Given the description of an element on the screen output the (x, y) to click on. 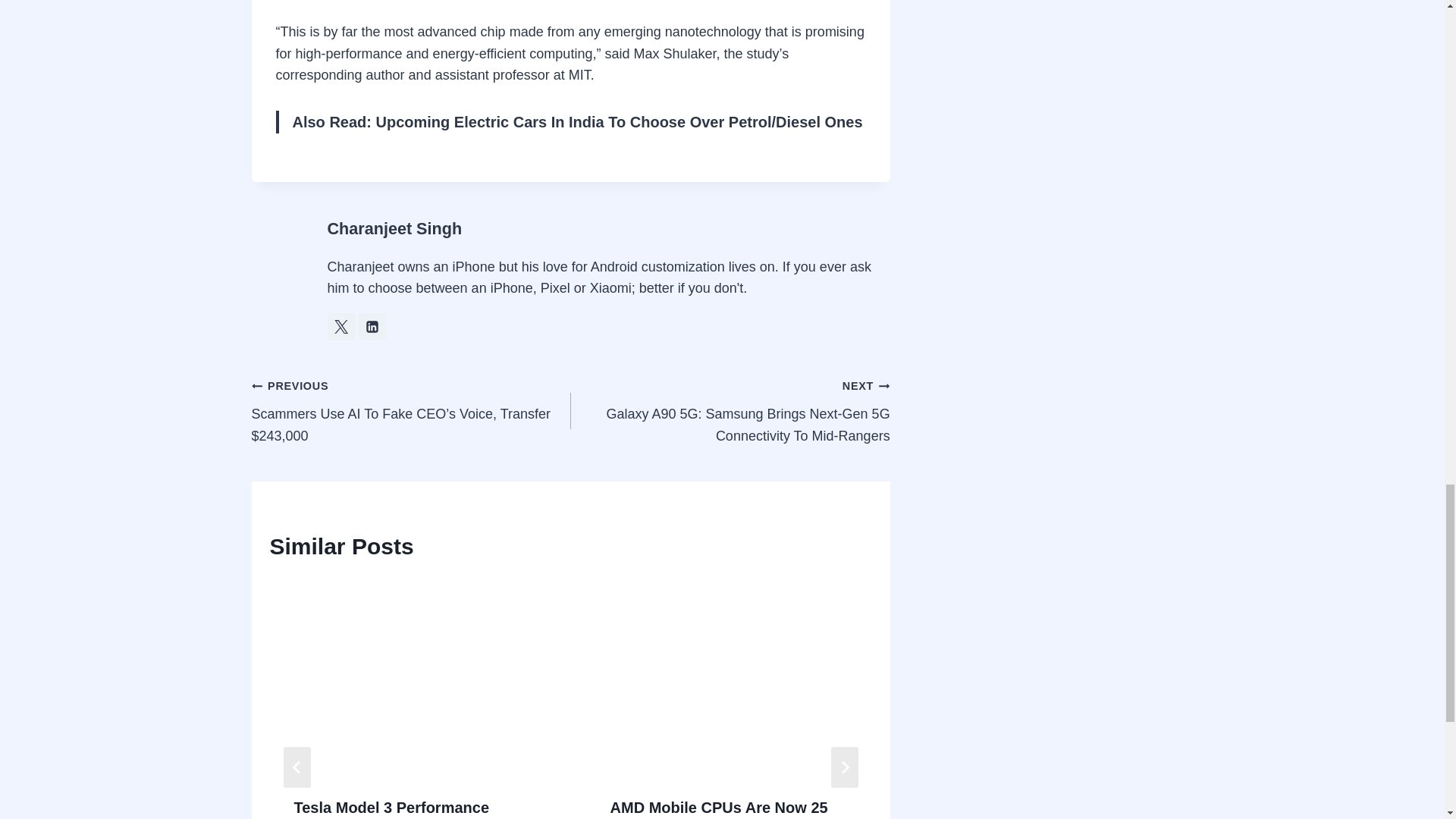
AMD Mobile CPUs Are Now 25 Times Power Efficient Than 2014 (727, 809)
Follow Charanjeet Singh on Linkedin (371, 326)
Posts by Charanjeet Singh (395, 228)
Charanjeet Singh (395, 228)
Follow Charanjeet Singh on X formerly Twitter (341, 326)
